Given the description of an element on the screen output the (x, y) to click on. 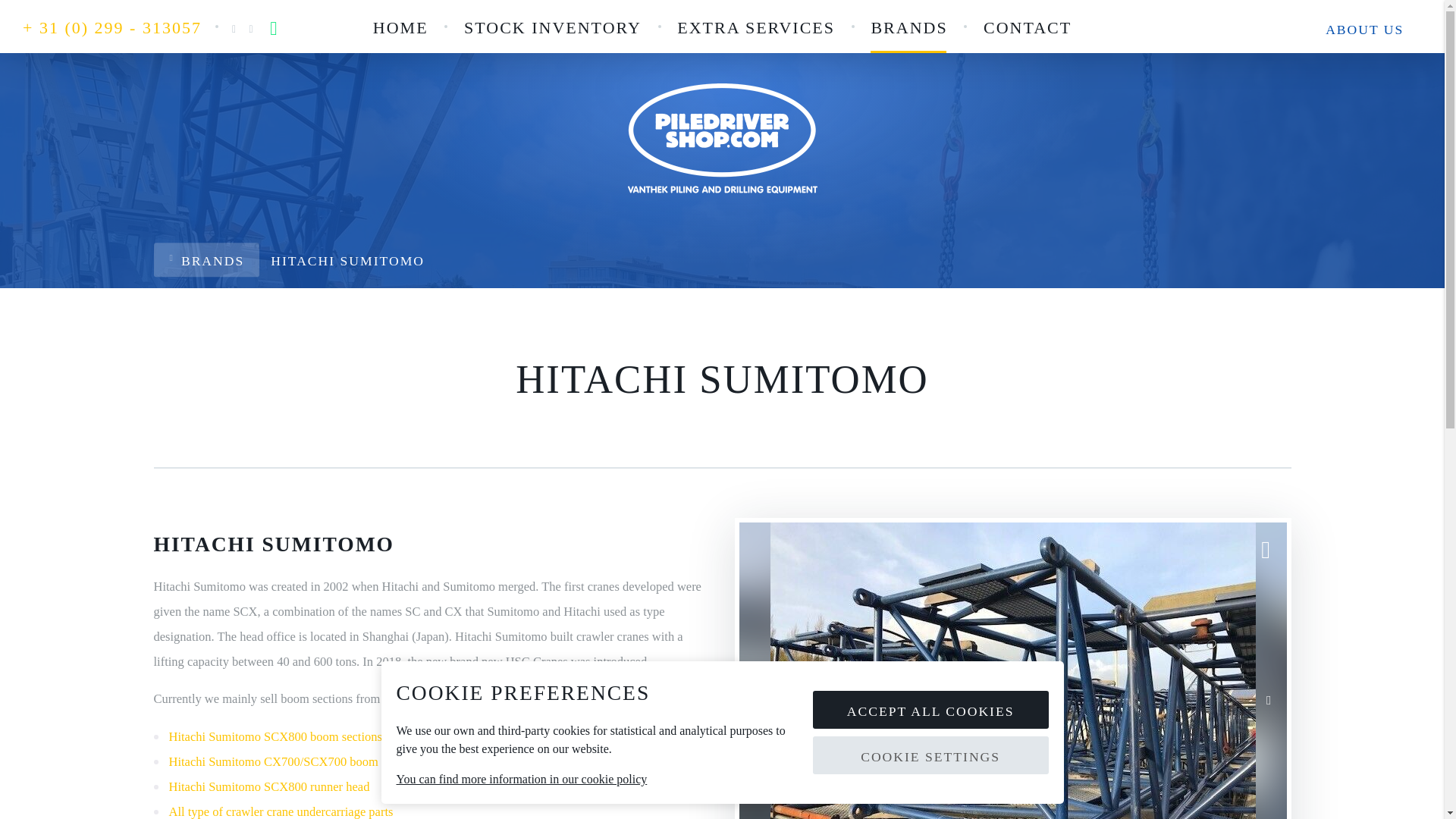
Hitachi Sumitomo SCX800 runner head (268, 786)
HOME (400, 28)
All type of crawler crane undercarriage parts (280, 811)
STOCK INVENTORY (552, 28)
HITACHI SUMITOMO (347, 259)
BRANDS (205, 259)
EXTRA SERVICES (755, 28)
Hitachi Sumitomo SCX800 boom sections (274, 736)
BRANDS (908, 28)
ABOUT US (1364, 28)
CONTACT (1027, 28)
